Given the description of an element on the screen output the (x, y) to click on. 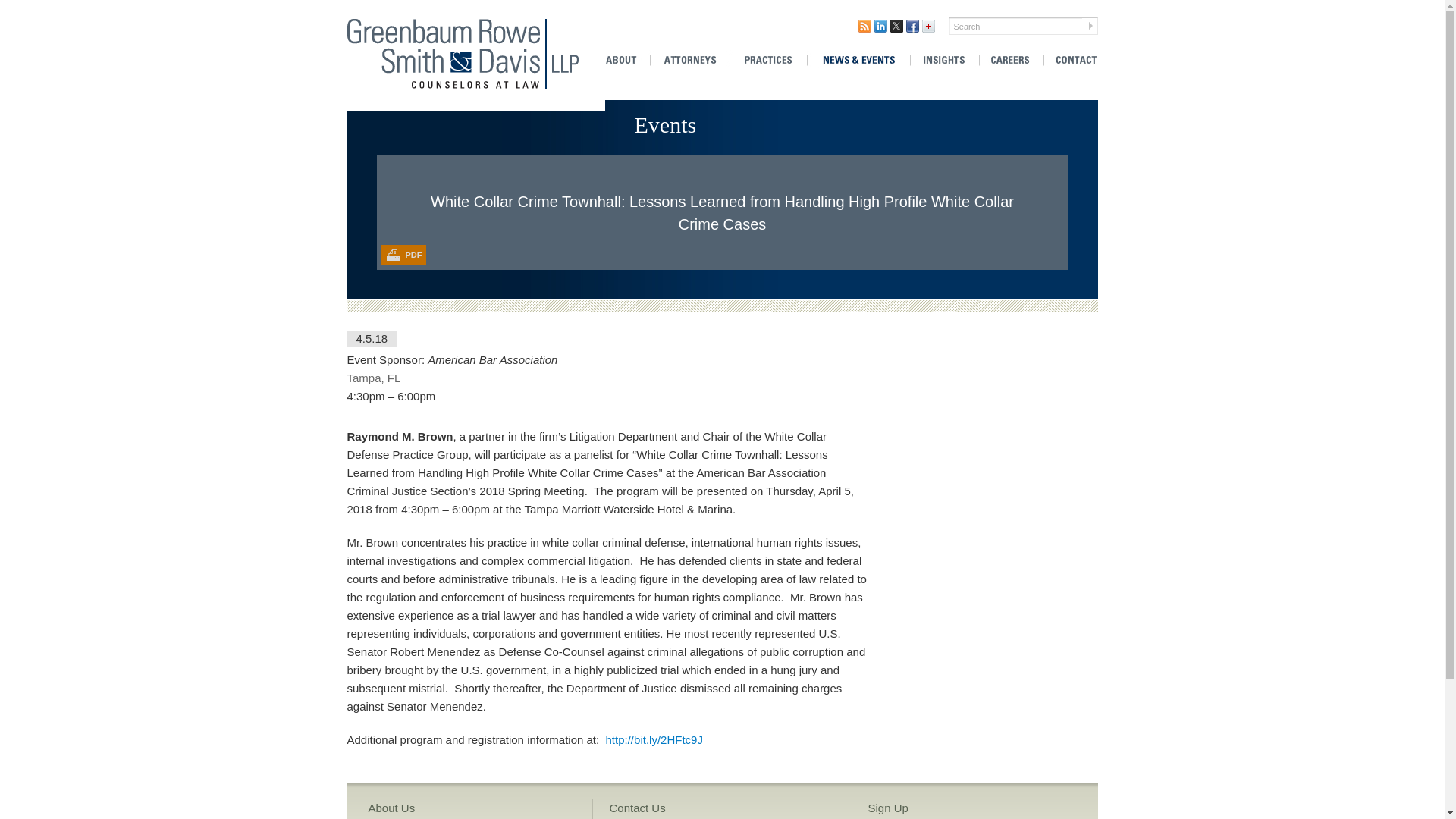
Menu (375, 8)
Main Menu (375, 8)
About (626, 60)
Attorneys (689, 60)
